Given the description of an element on the screen output the (x, y) to click on. 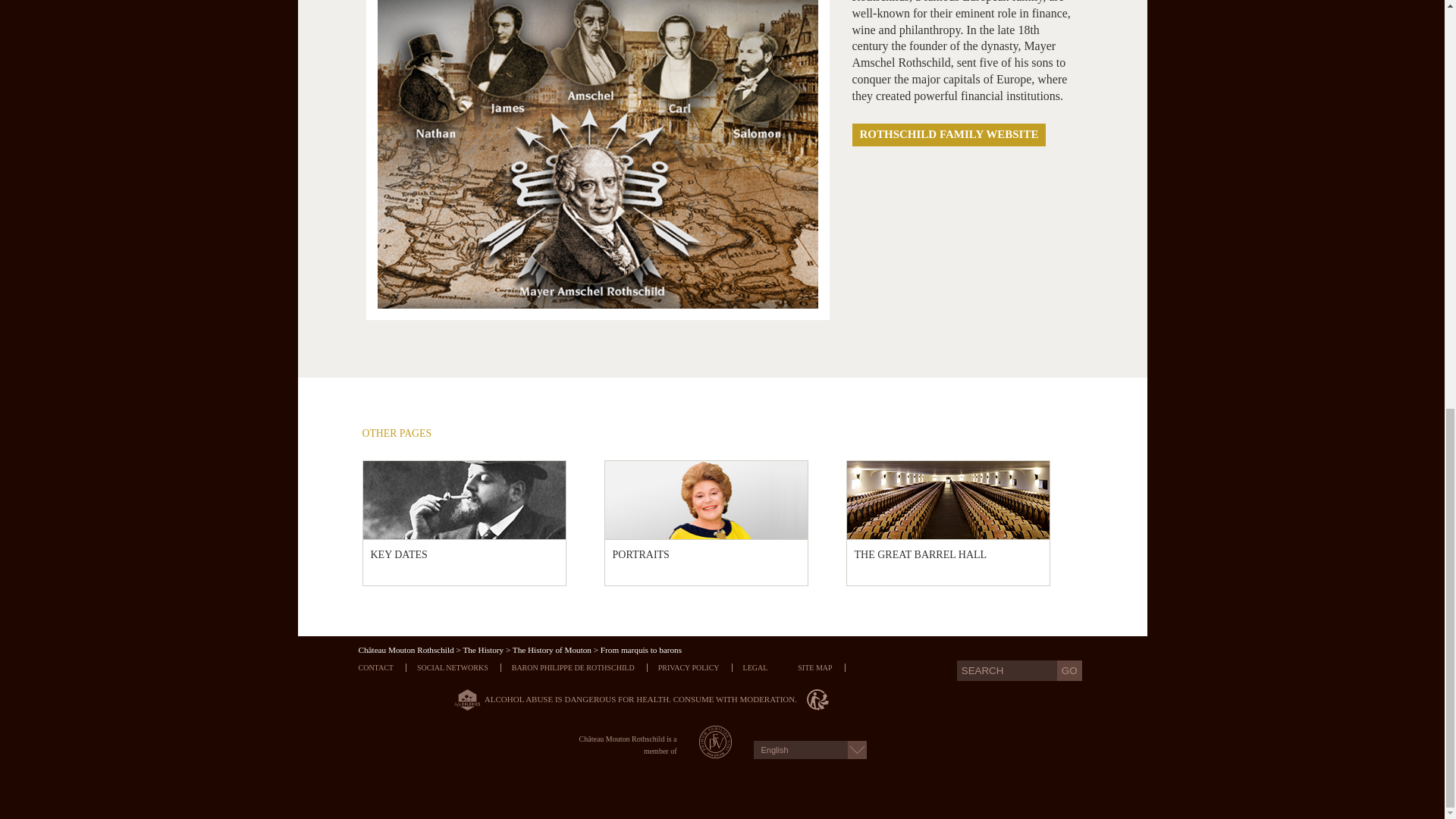
PFV Logo (715, 753)
KEY DATES (464, 558)
Info Calories (464, 698)
Info Calories (464, 699)
go (1069, 670)
Search (1006, 670)
Lien vers la page instagram de Mouton Rothschild (458, 667)
ROTHSCHILD FAMILY WEBSITE (948, 134)
go (1069, 670)
